Given the description of an element on the screen output the (x, y) to click on. 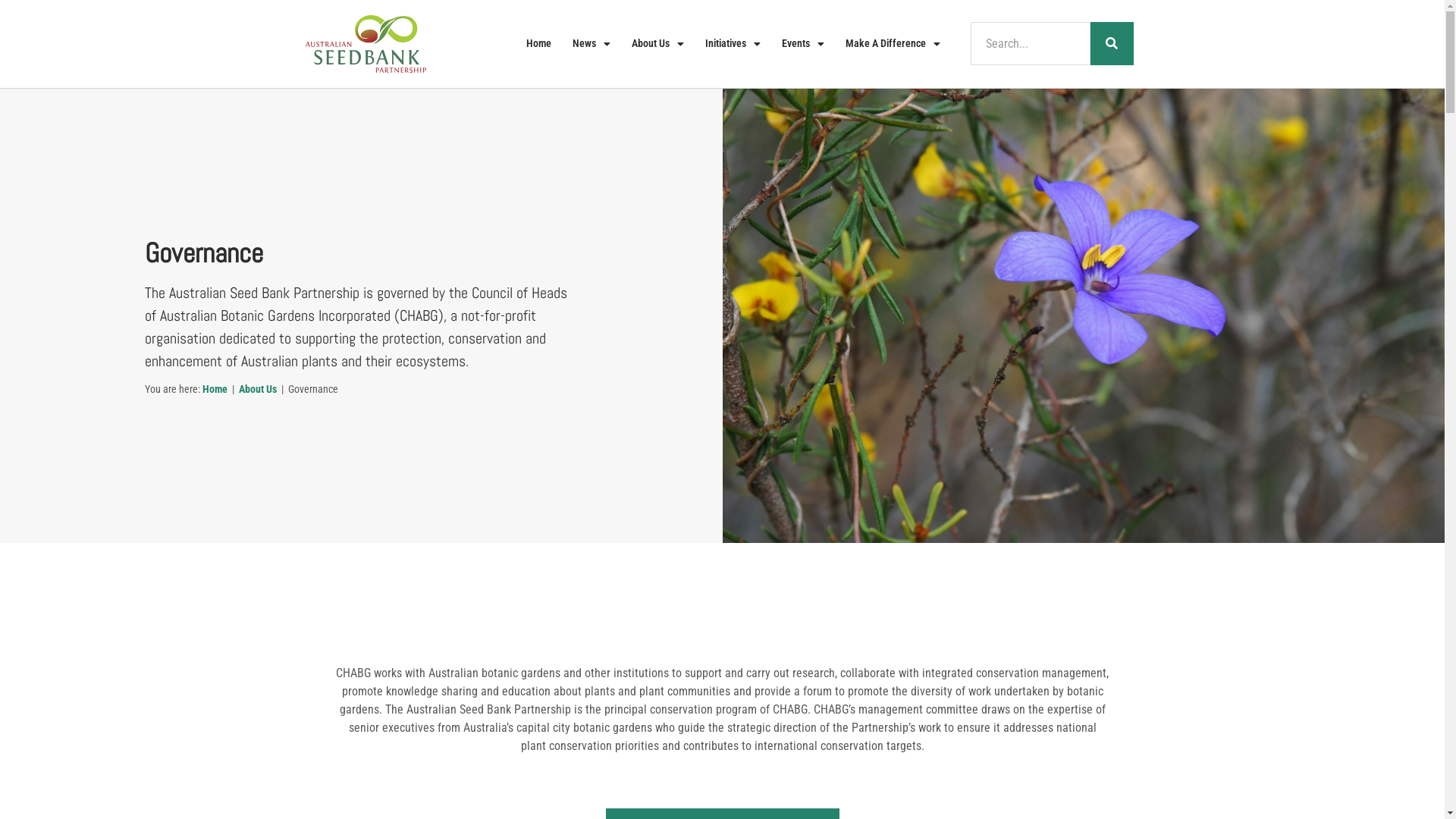
Events Element type: text (802, 43)
About Us Element type: text (657, 43)
About Us Element type: text (257, 388)
Make A Difference Element type: text (892, 43)
Home Element type: text (213, 388)
Home Element type: text (538, 43)
Initiatives Element type: text (732, 43)
News Element type: text (591, 43)
